Given the description of an element on the screen output the (x, y) to click on. 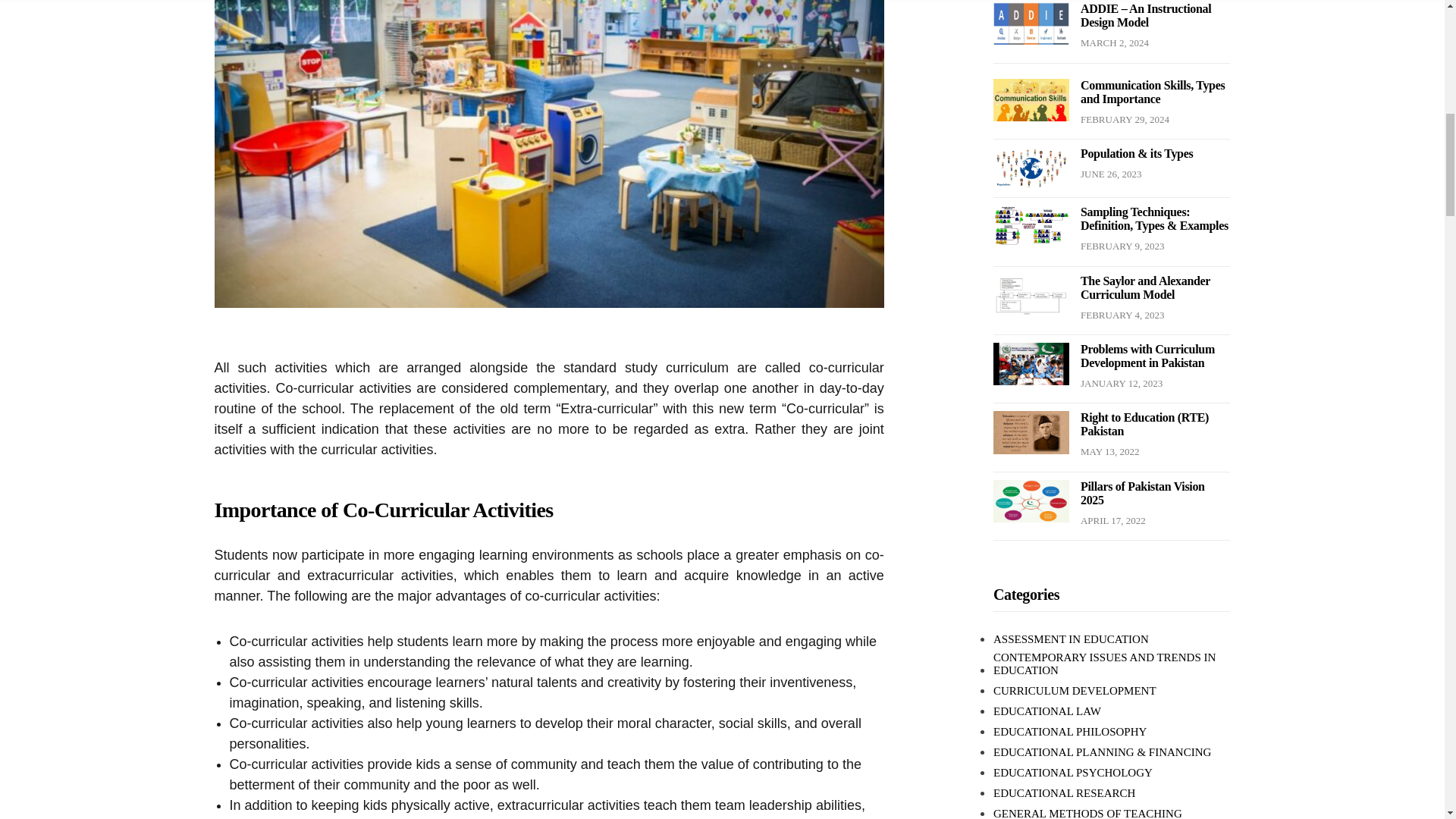
Communication Skills, Types and Importance (1152, 91)
Co-Curricular Activities (548, 83)
